Given the description of an element on the screen output the (x, y) to click on. 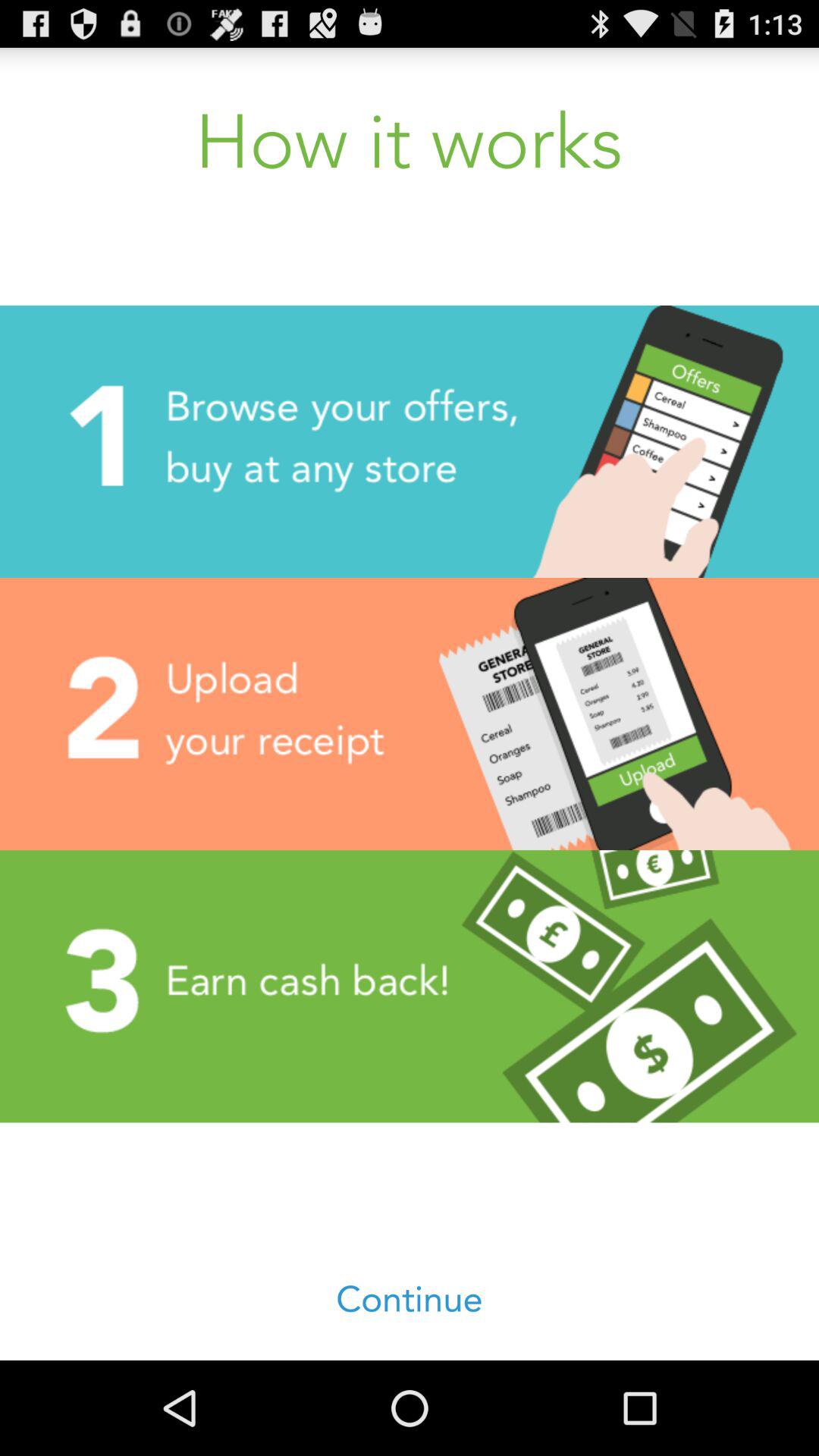
open the continue (409, 1300)
